Given the description of an element on the screen output the (x, y) to click on. 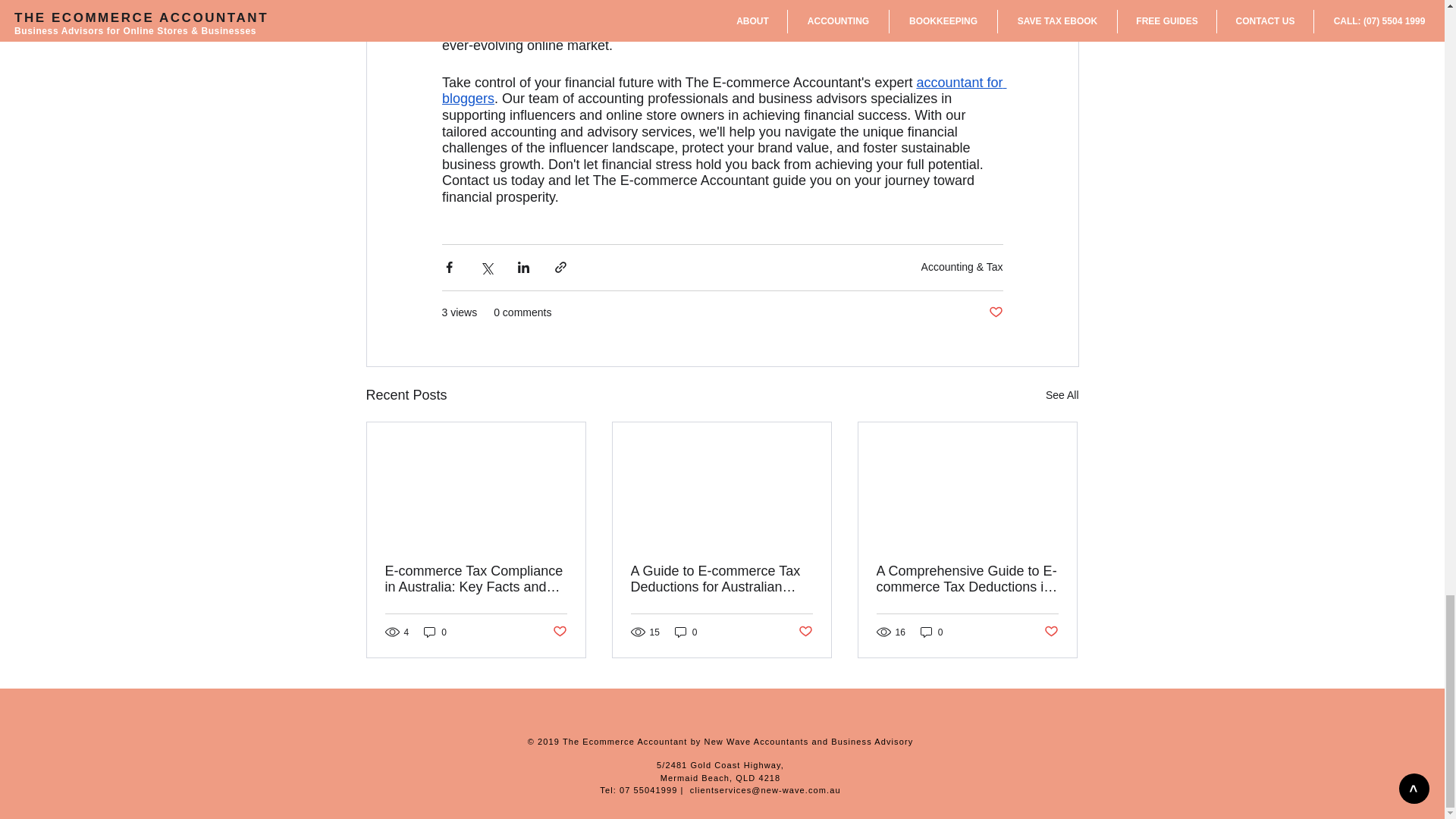
accountant for bloggers (723, 91)
Post not marked as liked (995, 312)
Post not marked as liked (804, 631)
0 (435, 631)
See All (1061, 394)
0 (685, 631)
Post not marked as liked (558, 631)
